Given the description of an element on the screen output the (x, y) to click on. 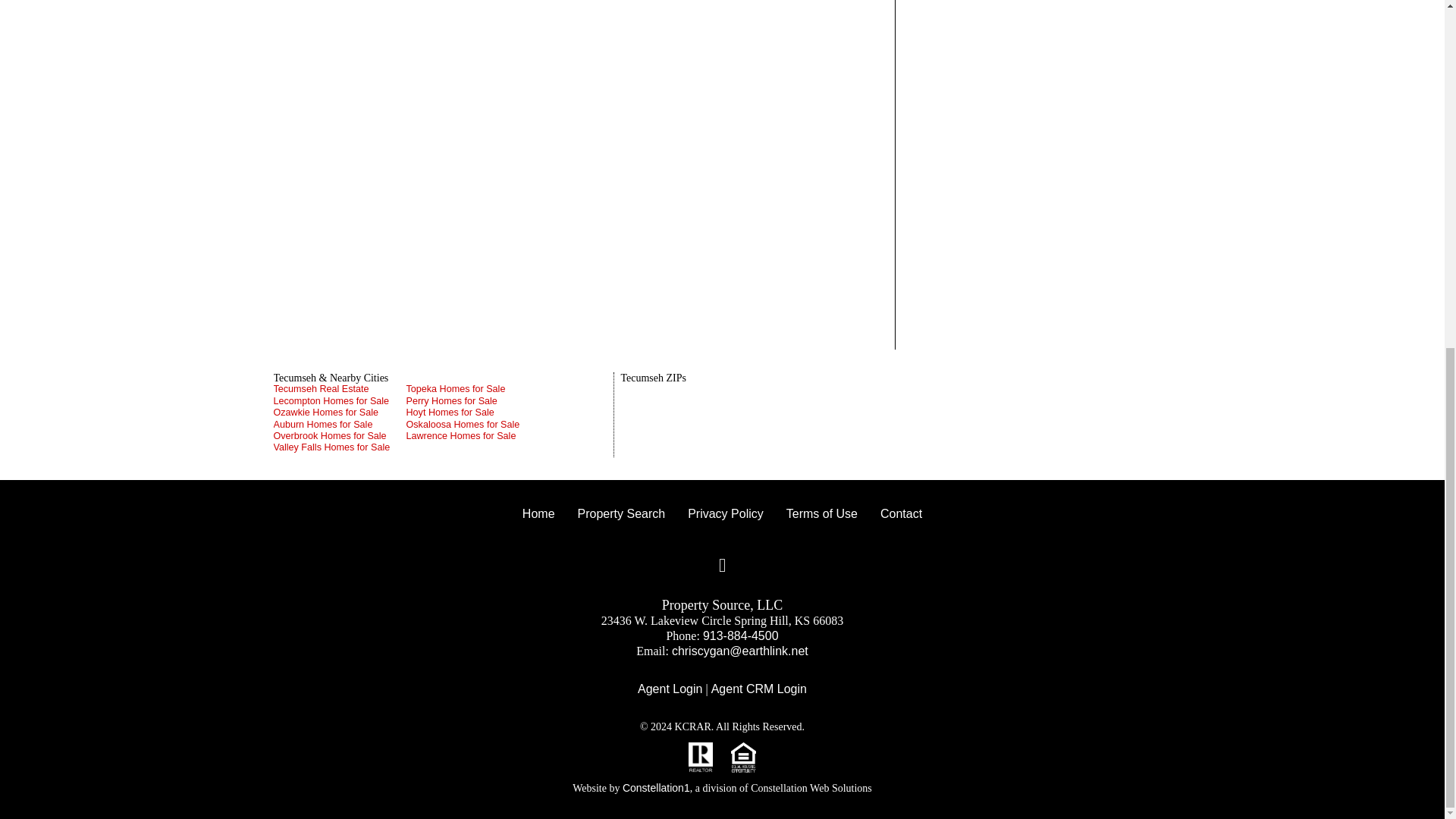
Terms of Use (821, 514)
Auburn Homes for Sale (339, 424)
Overbrook Homes for Sale (339, 436)
Valley Falls Homes for Sale (339, 447)
Oskaloosa Homes for Sale (472, 424)
Lawrence Homes for Sale (472, 436)
Topeka Homes for Sale (472, 389)
Lecompton Homes for Sale (339, 401)
Privacy Policy (725, 514)
Ozawkie Homes for Sale (339, 412)
Home (538, 514)
Tecumseh Real Estate (339, 389)
Perry Homes for Sale (472, 401)
Hoyt Homes for Sale (472, 412)
Property Search (621, 514)
